Given the description of an element on the screen output the (x, y) to click on. 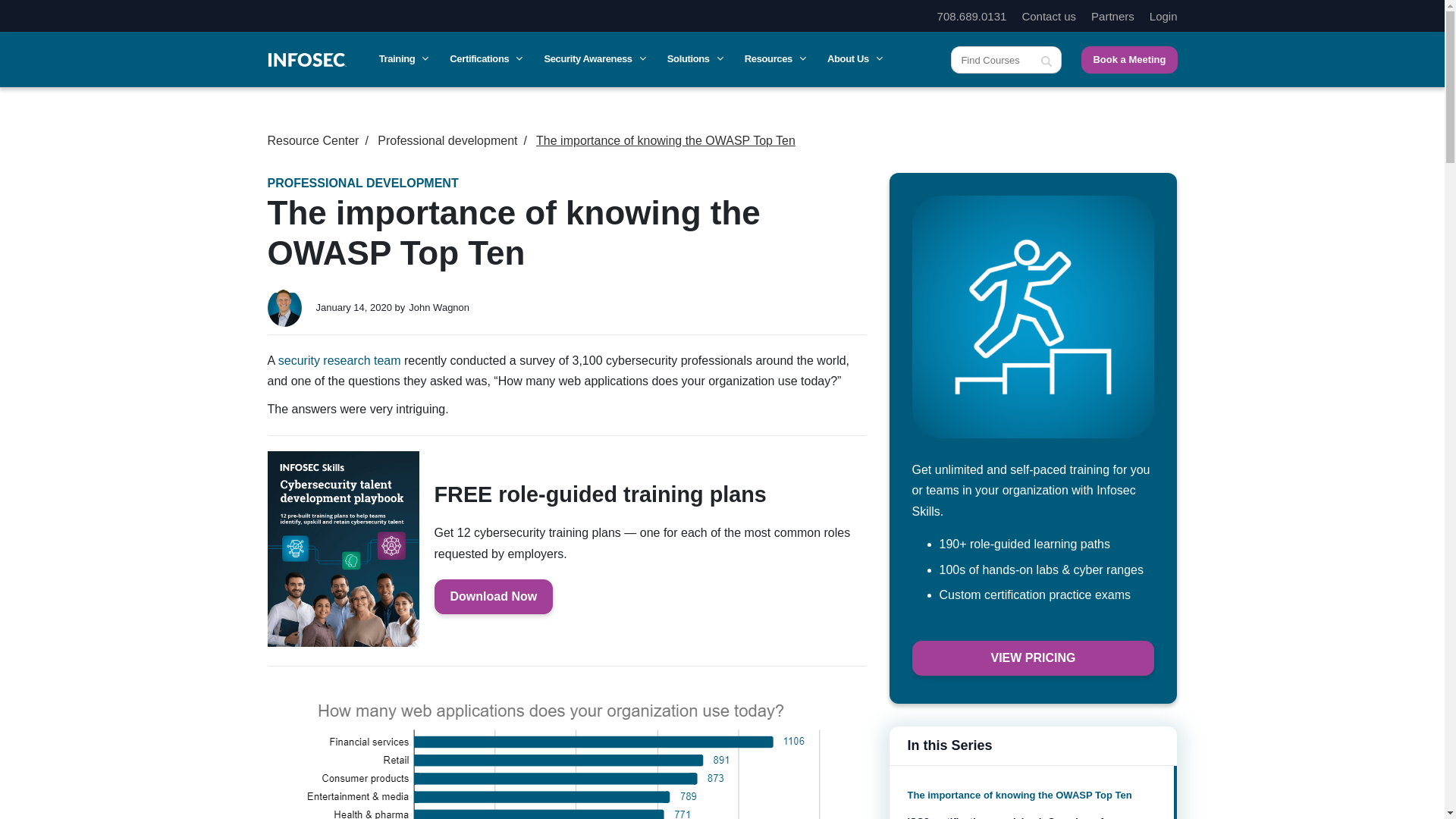
Book a Meeting (1128, 59)
Certifications (484, 59)
VIEW PRICING (1032, 657)
Download Now (493, 596)
Partners (1112, 15)
Training (402, 59)
VIEW PRICING (1032, 326)
708.689.0131 (972, 15)
Infosec logo (306, 59)
Login (1163, 15)
Contact us (1048, 15)
Partners (1112, 15)
In this Series (1032, 745)
Contact us (1048, 15)
Login (1163, 15)
